Given the description of an element on the screen output the (x, y) to click on. 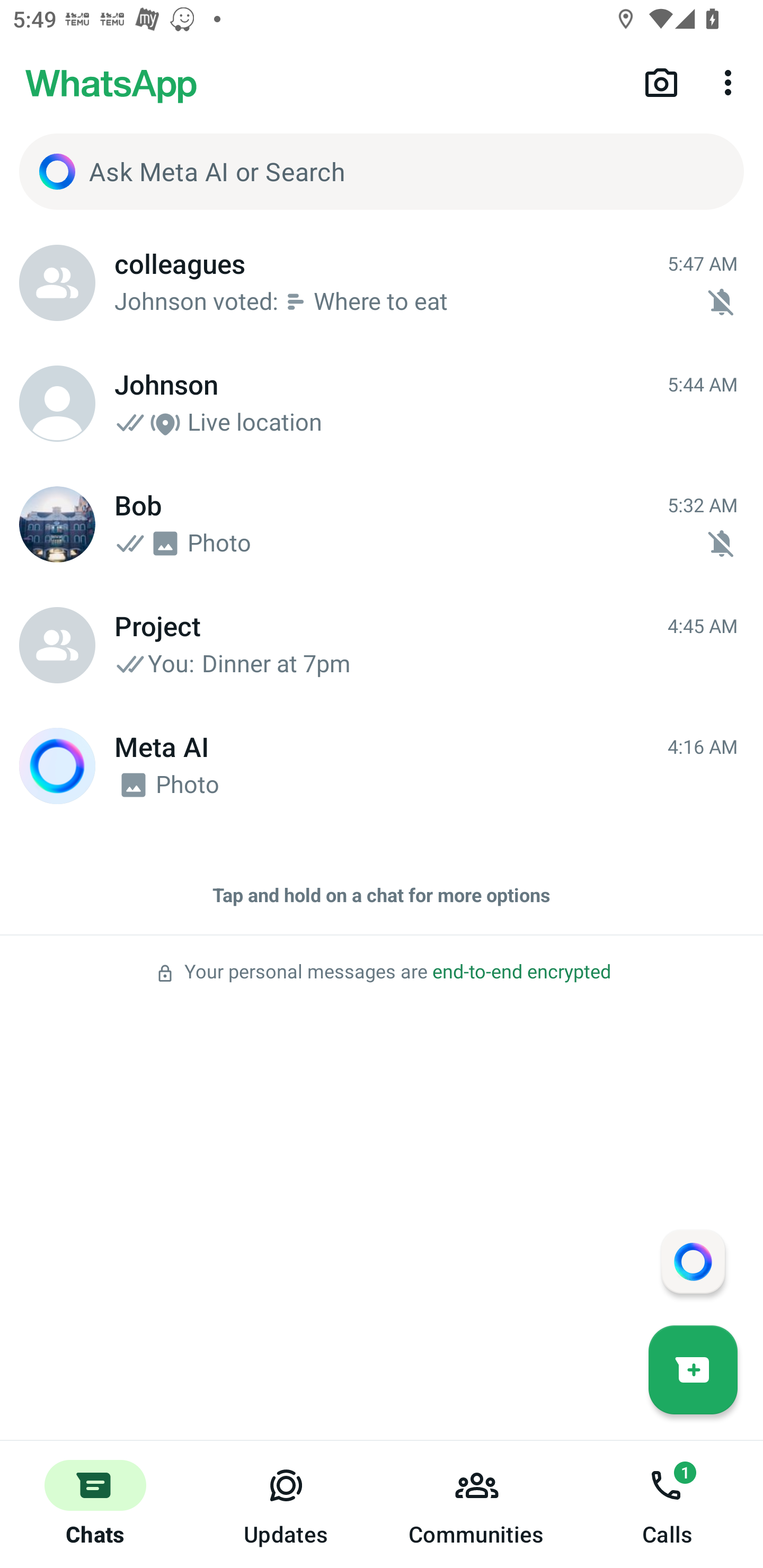
Camera (661, 81)
More options (731, 81)
colleagues (57, 282)
Johnson Johnson 5:44 AM 5:44 AM Live location (381, 403)
Johnson (57, 403)
Bob Bob 5:32 AM 5:32 AM Photo Mute notifications (381, 524)
Bob (57, 524)
Project (57, 644)
Meta AI Meta AI 4:16 AM 4:16 AM Photo (381, 765)
Meta AI (57, 765)
end-to-end encrypted (521, 972)
Message your assistant (692, 1261)
New chat (692, 1369)
Updates (285, 1504)
Communities (476, 1504)
Calls, 1 new notification Calls (667, 1504)
